Given the description of an element on the screen output the (x, y) to click on. 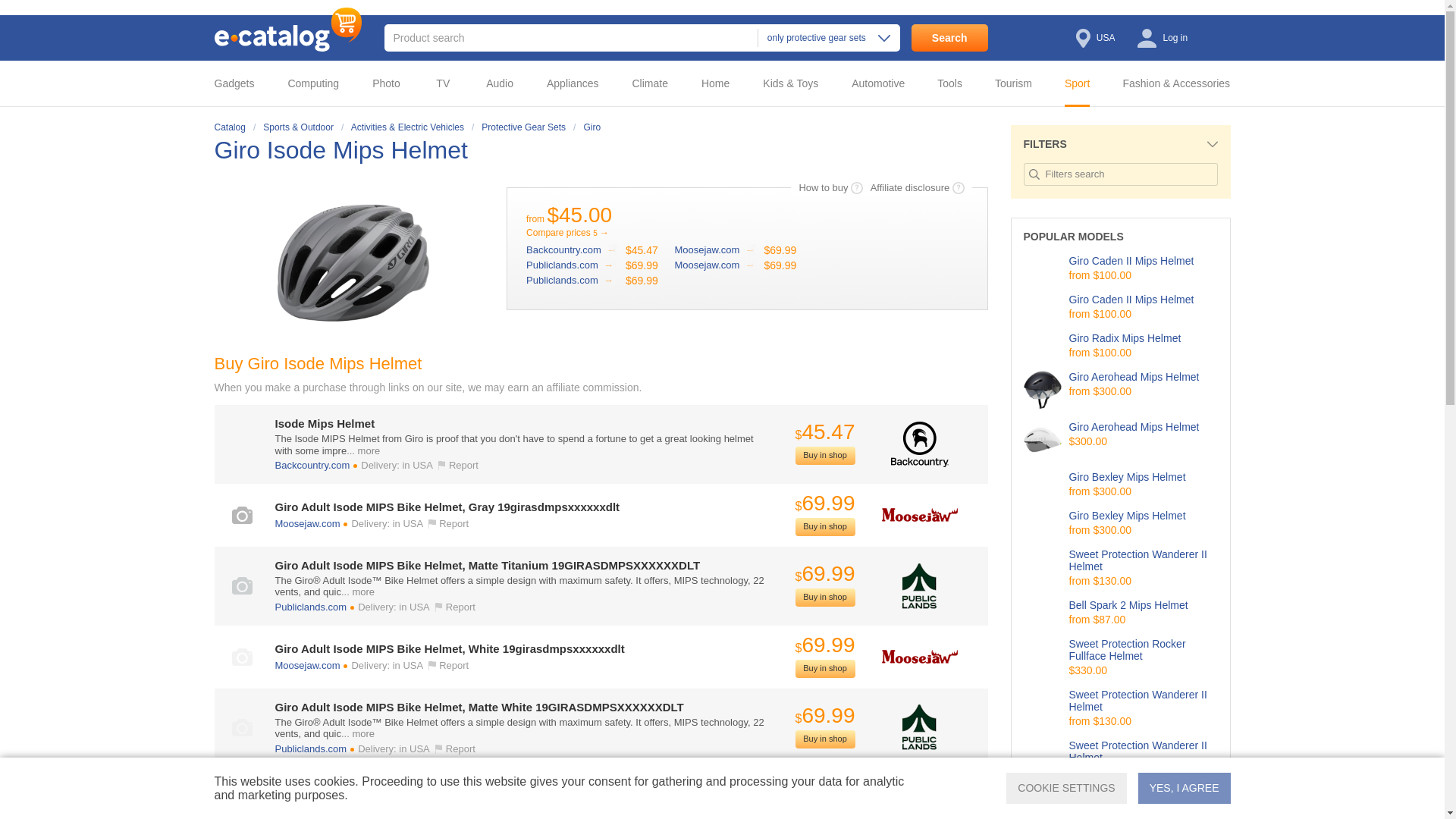
E-Catalog (287, 29)
gray (241, 515)
Computing (318, 83)
silver (241, 585)
Increase (353, 263)
white (241, 656)
Protective Gear Set Giro Isode Mips Helmet (344, 149)
Photo (391, 83)
Gadgets (245, 83)
Share Page (972, 150)
 Isode Mips Helmet (570, 249)
